Given the description of an element on the screen output the (x, y) to click on. 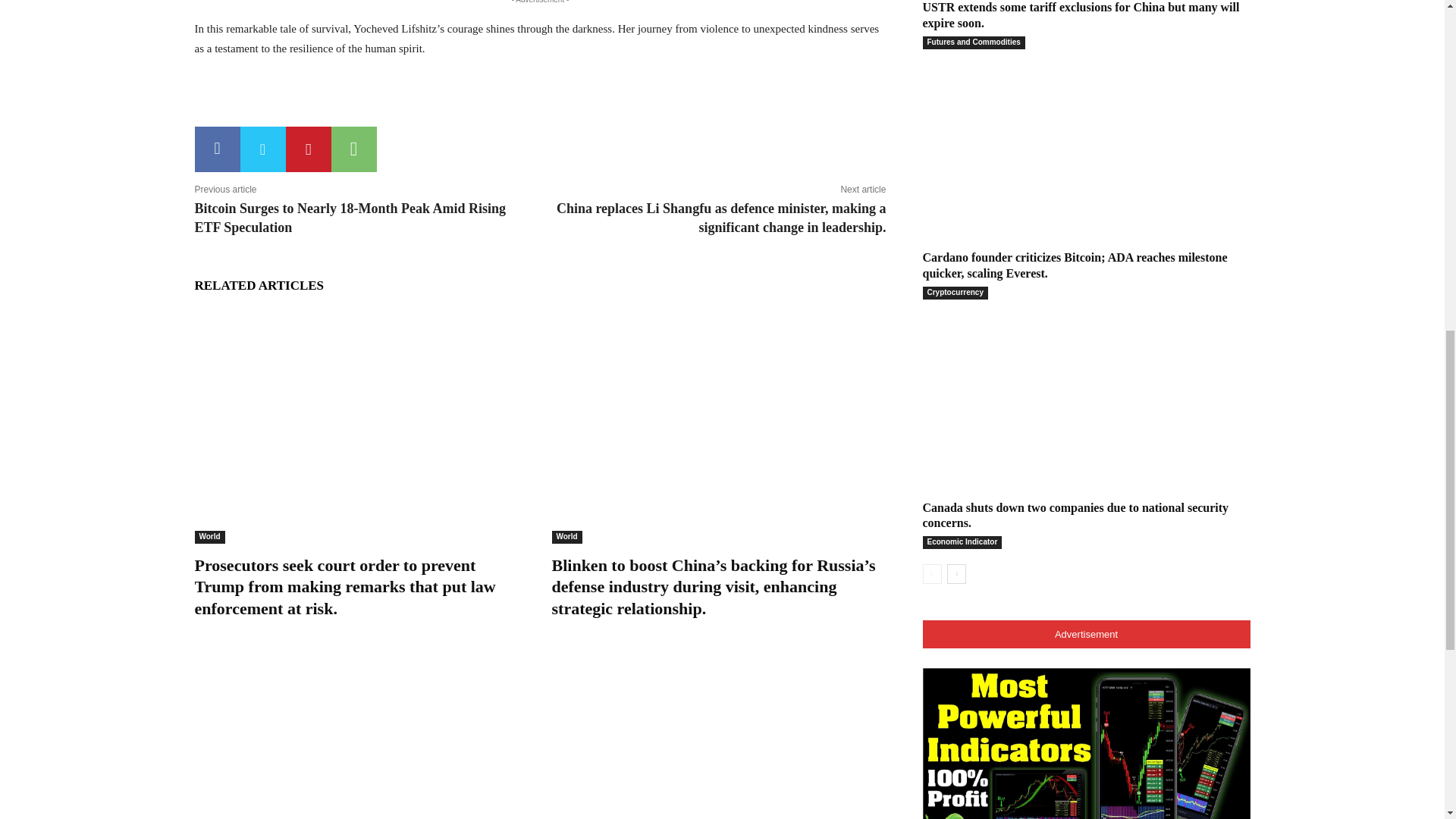
WhatsApp (352, 148)
Twitter (262, 148)
Facebook (216, 148)
Pinterest (307, 148)
